Given the description of an element on the screen output the (x, y) to click on. 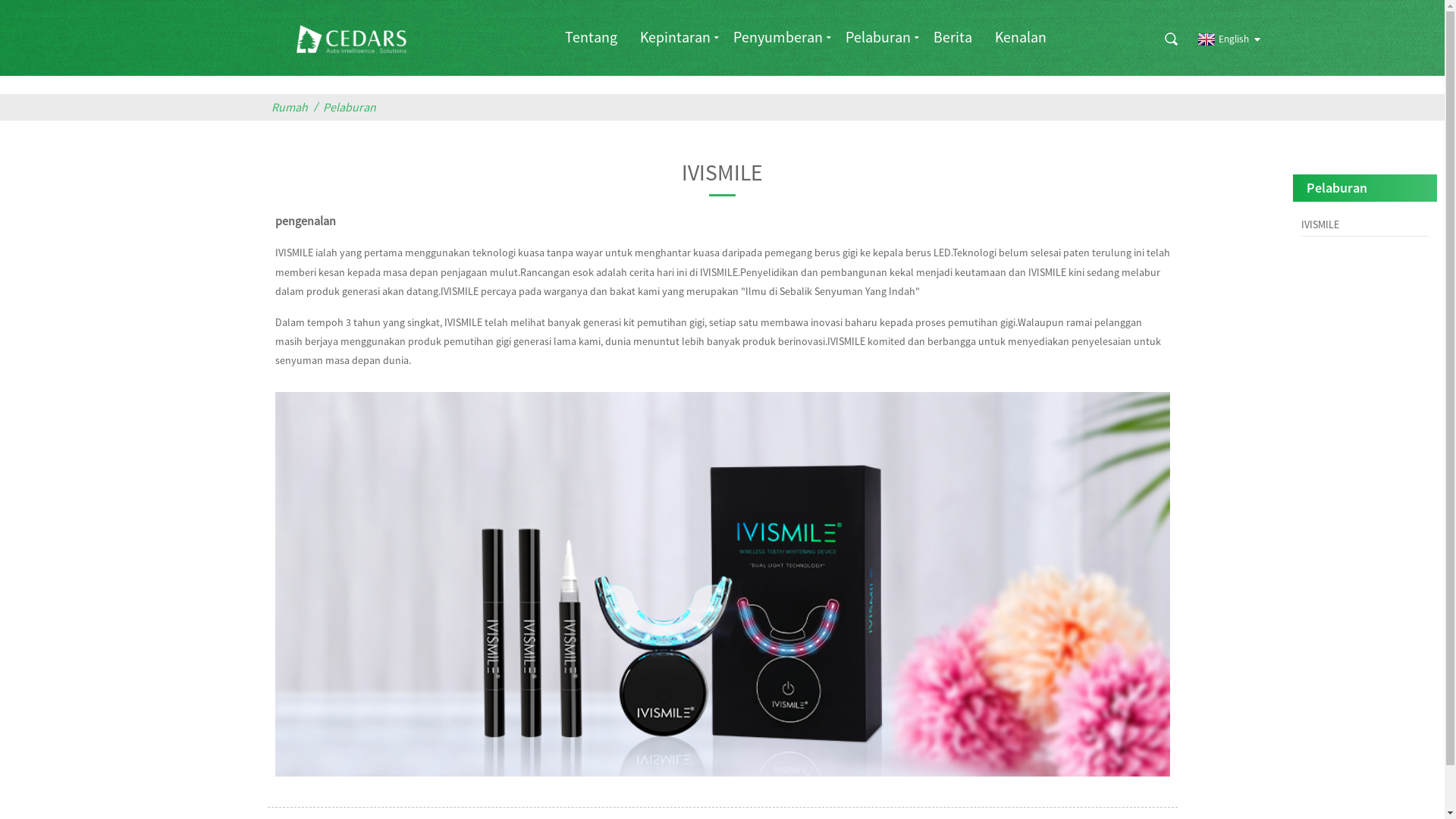
Pelaburan Element type: text (352, 107)
Penyumberan Element type: text (777, 36)
Kepintaran Element type: text (675, 36)
Rumah Element type: text (292, 107)
Kenalan Element type: text (1020, 36)
Pelaburan Element type: text (877, 36)
Berita Element type: text (952, 36)
IVISMILE Element type: text (1365, 224)
Tentang Element type: text (590, 36)
English Element type: text (1220, 39)
